Given the description of an element on the screen output the (x, y) to click on. 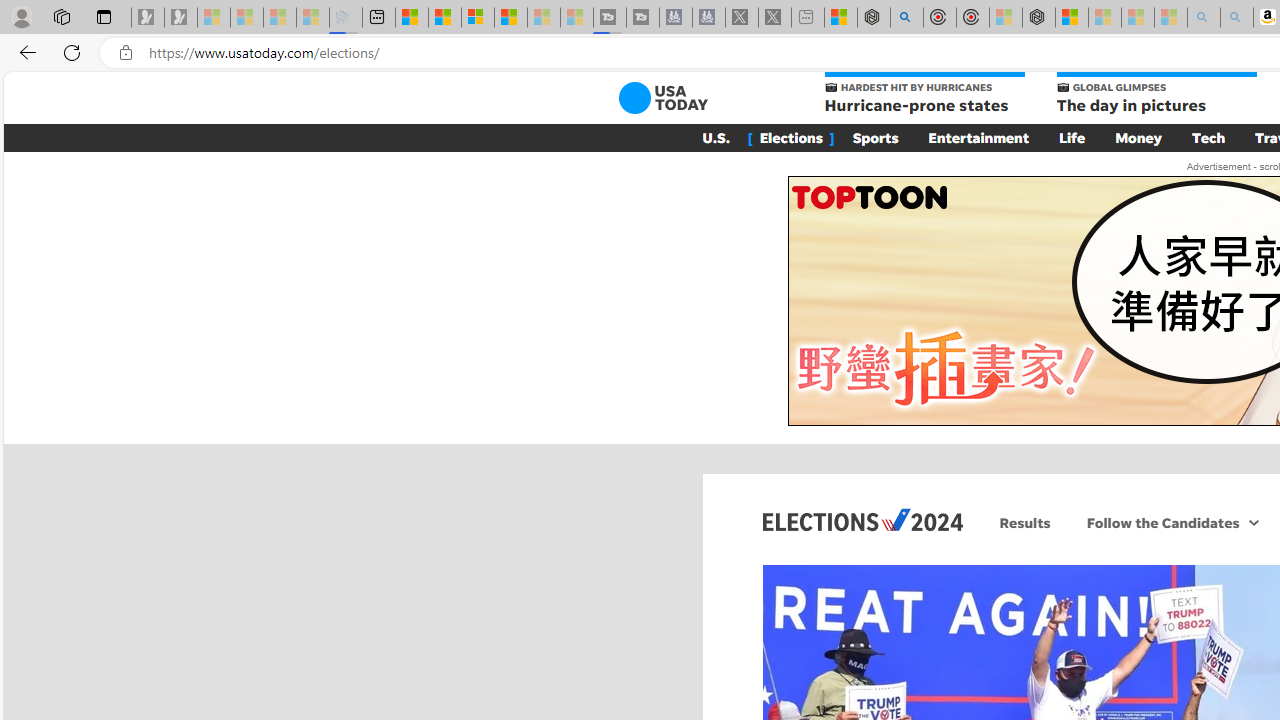
Life (1072, 137)
Sports (875, 137)
More Follow the Candidates navigation (1253, 521)
Follow the Candidates (1160, 521)
Amazon Echo Dot PNG - Search Images - Sleeping (1237, 17)
amazon - Search - Sleeping (1203, 17)
Results (1025, 521)
Class: gnt_n_lg_svg (662, 97)
